Given the description of an element on the screen output the (x, y) to click on. 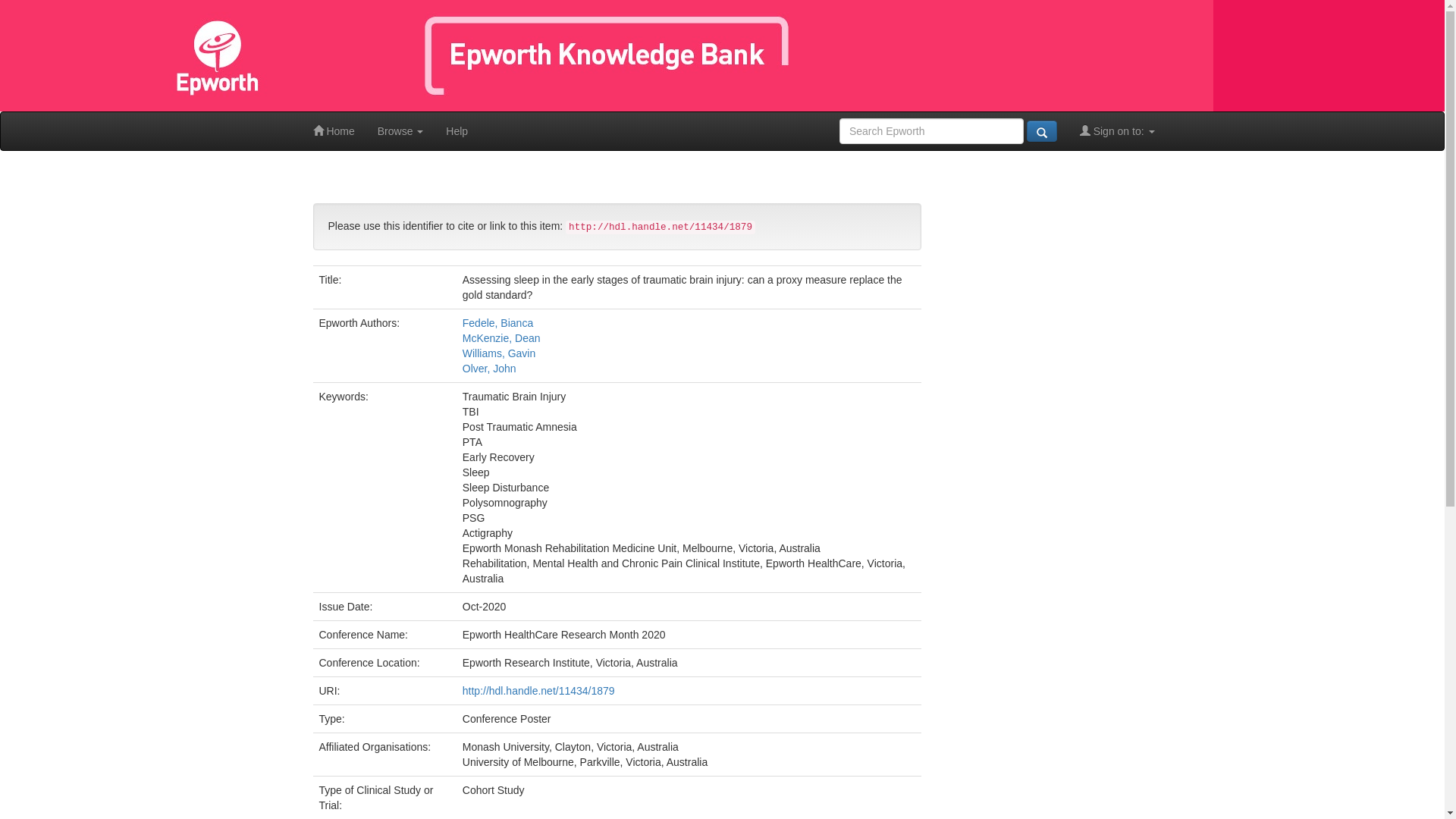
Home Element type: text (333, 131)
Browse Element type: text (400, 131)
McKenzie, Dean Element type: text (501, 338)
Fedele, Bianca Element type: text (497, 322)
Olver, John Element type: text (489, 368)
http://hdl.handle.net/11434/1879 Element type: text (538, 690)
Help Element type: text (456, 131)
Sign on to: Element type: text (1117, 131)
Williams, Gavin Element type: text (498, 353)
